Given the description of an element on the screen output the (x, y) to click on. 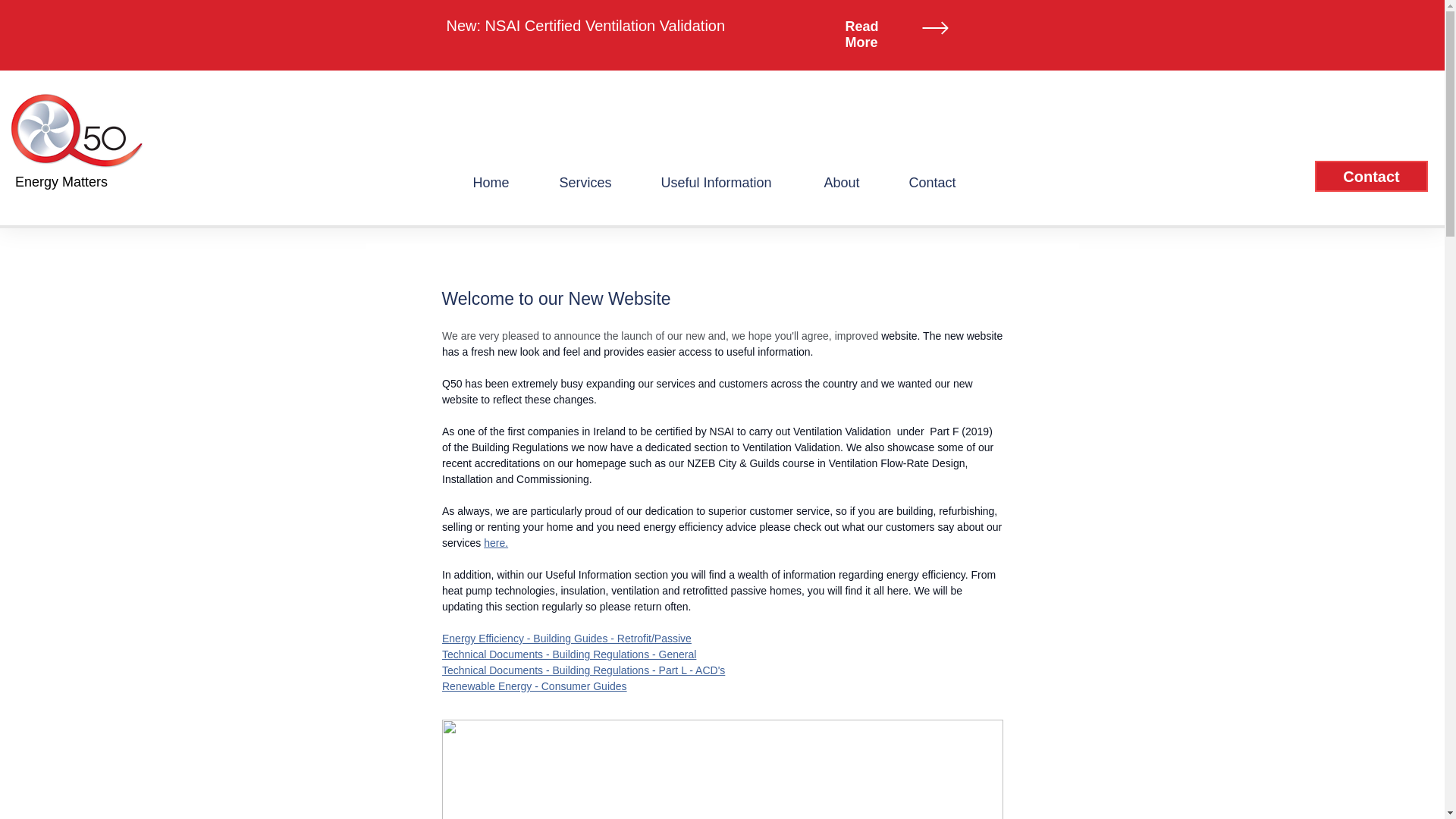
Contact (946, 182)
Read More (860, 33)
New: NSAI Certified Ventilation Validation (585, 25)
Contact (1371, 175)
Services (598, 182)
Useful Information (730, 182)
here. (495, 542)
Technical Documents - Building Regulations - General (568, 654)
About (855, 182)
Technical Documents - Building Regulations - Part L - ACD's (582, 670)
Home (504, 182)
Renewable Energy - Consumer Guides (533, 686)
